Given the description of an element on the screen output the (x, y) to click on. 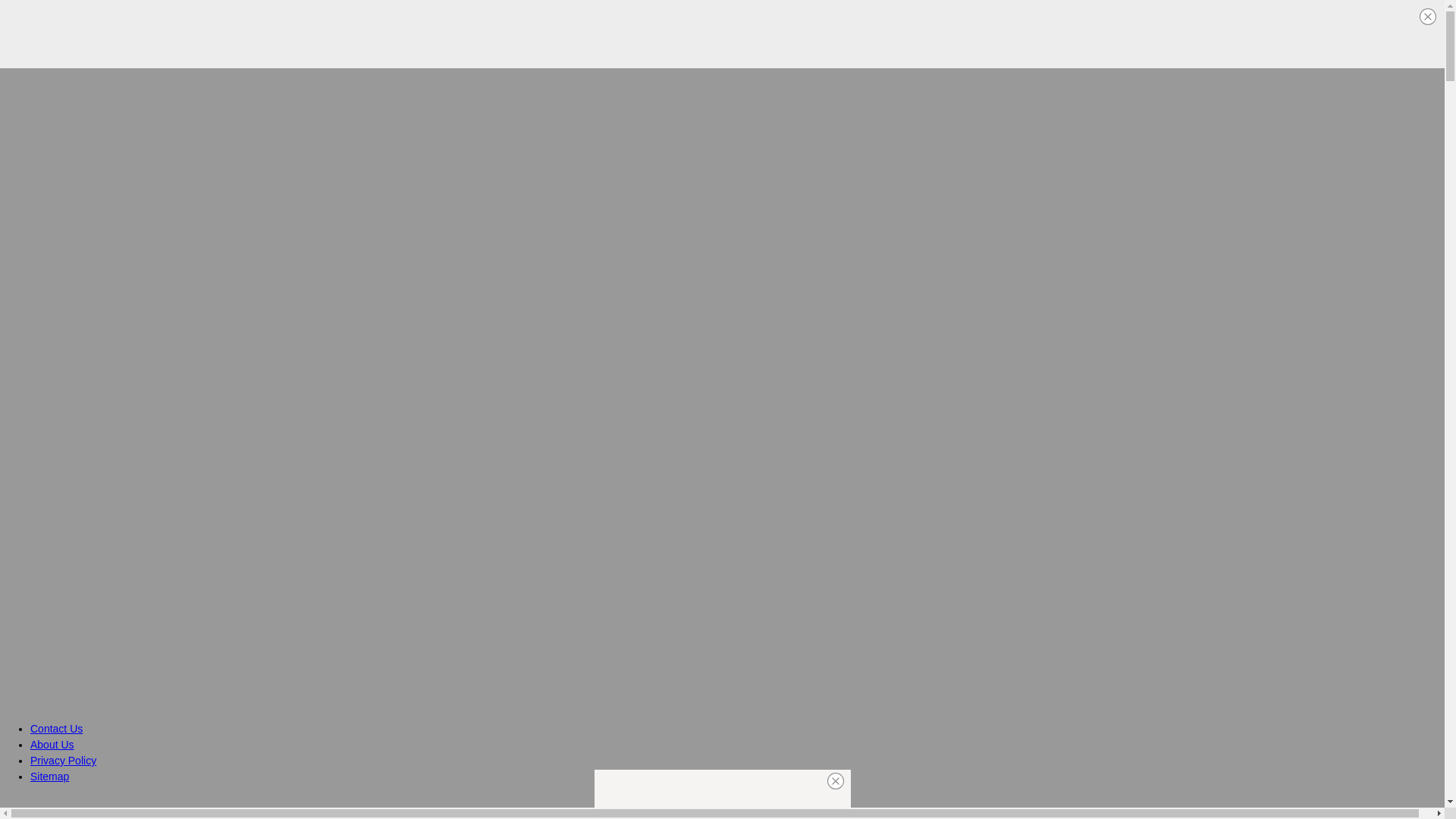
3rd party ad content (721, 33)
Where Facts Are Born (103, 807)
